Given the description of an element on the screen output the (x, y) to click on. 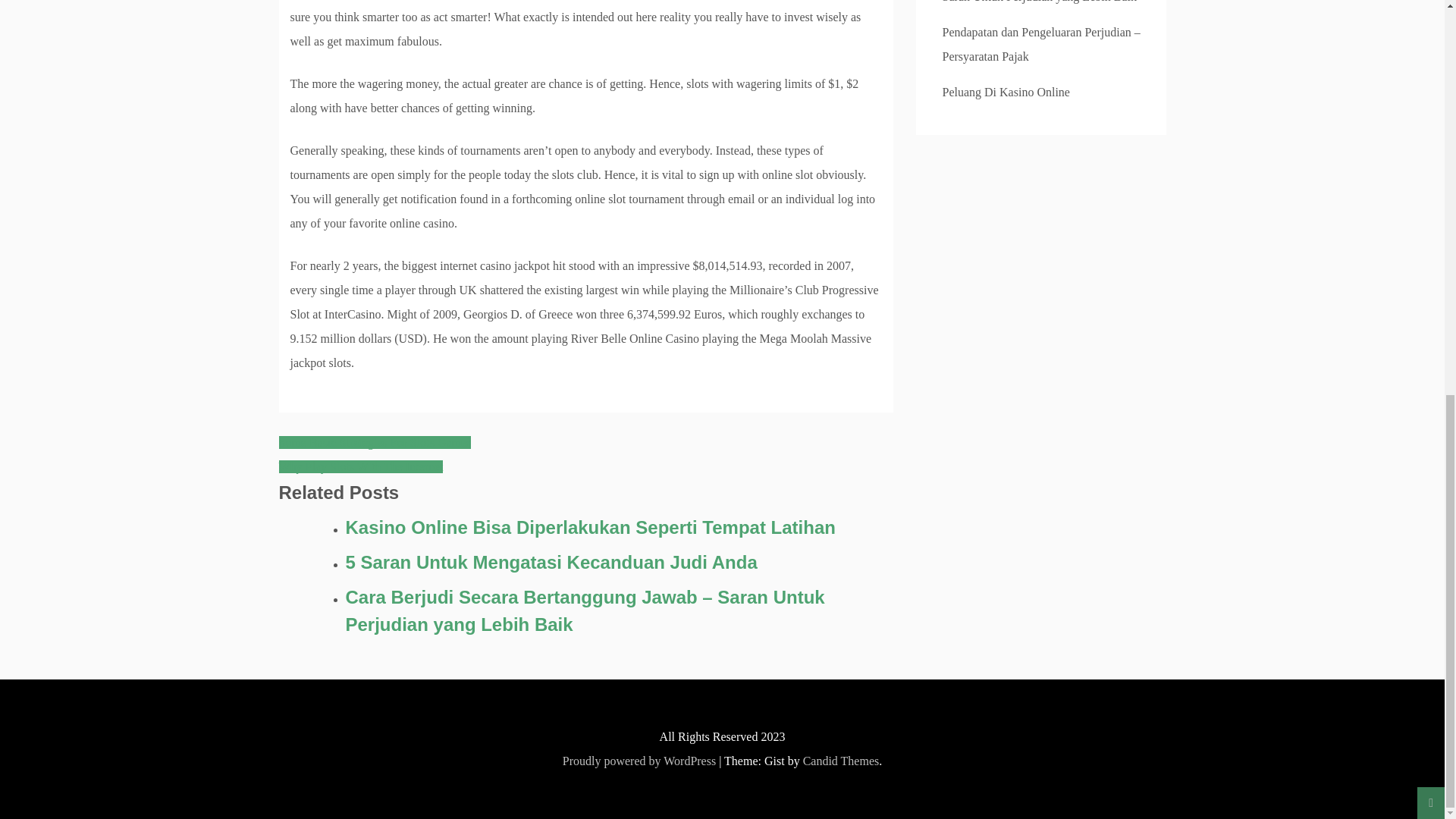
Why Play Slots With The Internet (361, 466)
Kasino Online Bisa Diperlakukan Seperti Tempat Latihan (619, 527)
Candid Themes (841, 760)
Some Basic Strategies For Slots Games (375, 441)
Proudly powered by WordPress (639, 760)
5 Saran Untuk Mengatasi Kecanduan Judi Anda (619, 562)
Peluang Di Kasino Online (1005, 91)
